Given the description of an element on the screen output the (x, y) to click on. 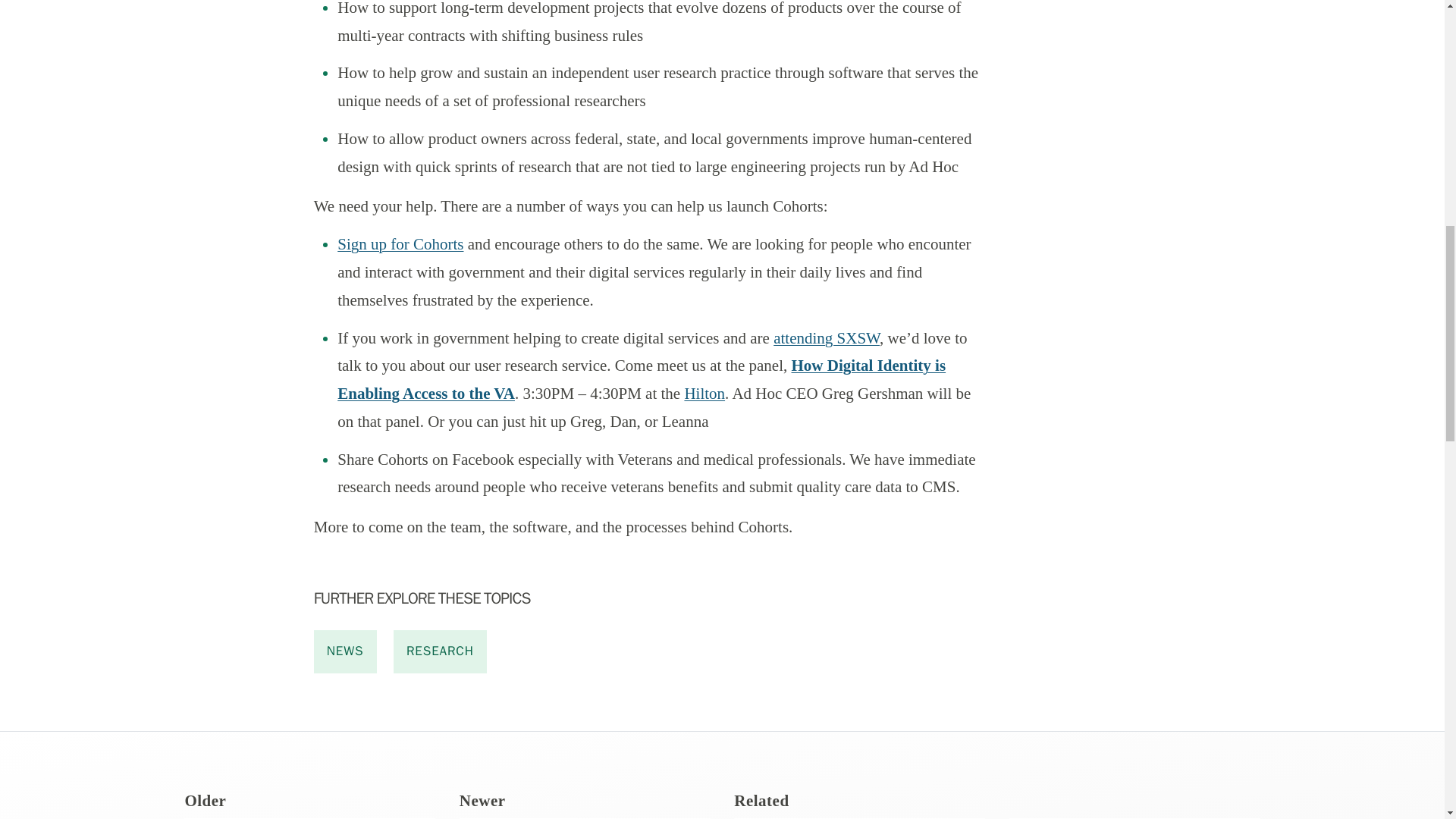
RESEARCH (439, 651)
How Digital Identity is Enabling Access to the VA (640, 379)
attending SXSW (826, 338)
Sign up for Cohorts (400, 244)
Hilton (704, 393)
